Given the description of an element on the screen output the (x, y) to click on. 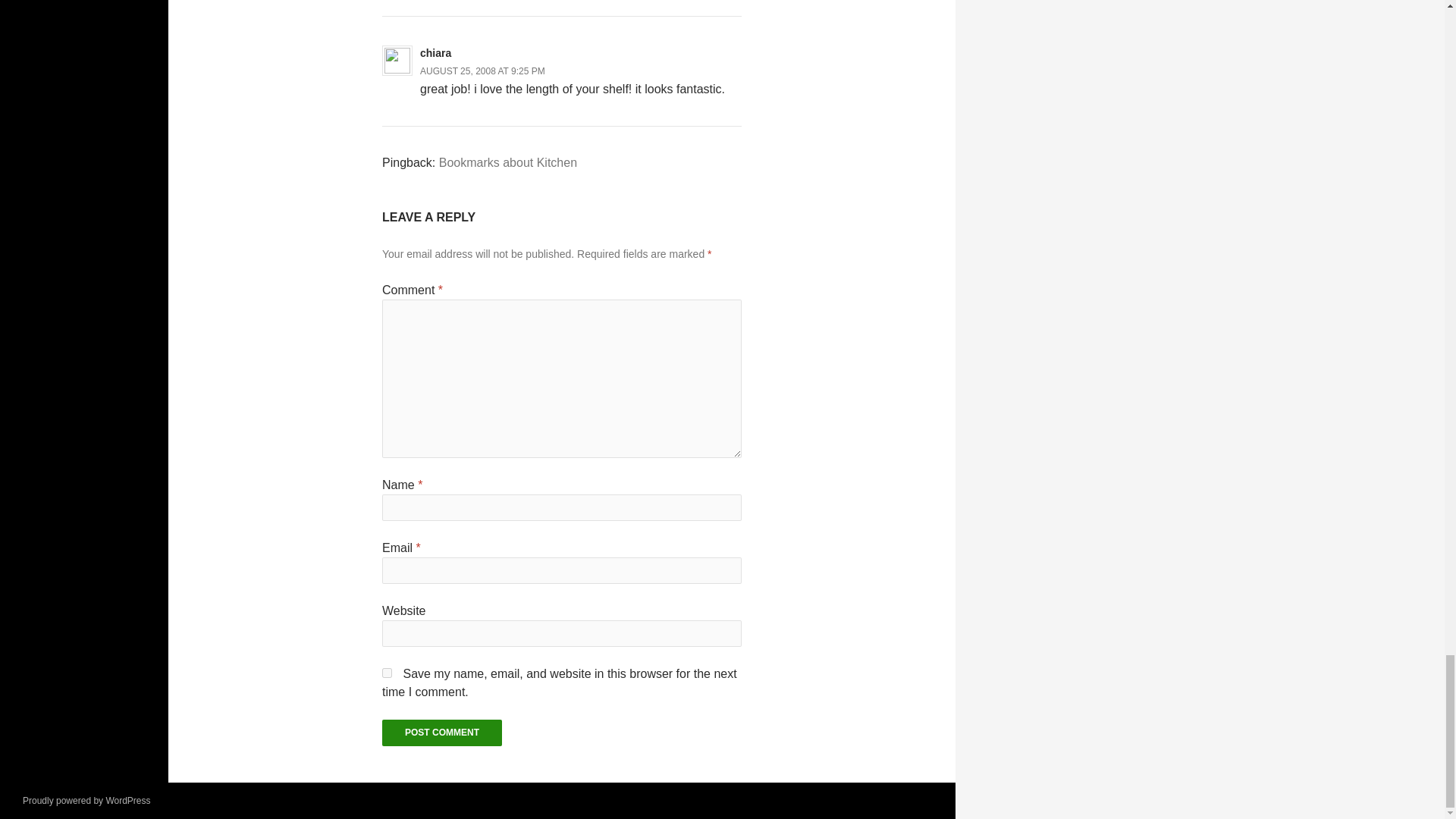
AUGUST 25, 2008 AT 9:25 PM (482, 71)
yes (386, 673)
Post Comment (441, 732)
chiara (435, 52)
Post Comment (441, 732)
Bookmarks about Kitchen (507, 162)
